Given the description of an element on the screen output the (x, y) to click on. 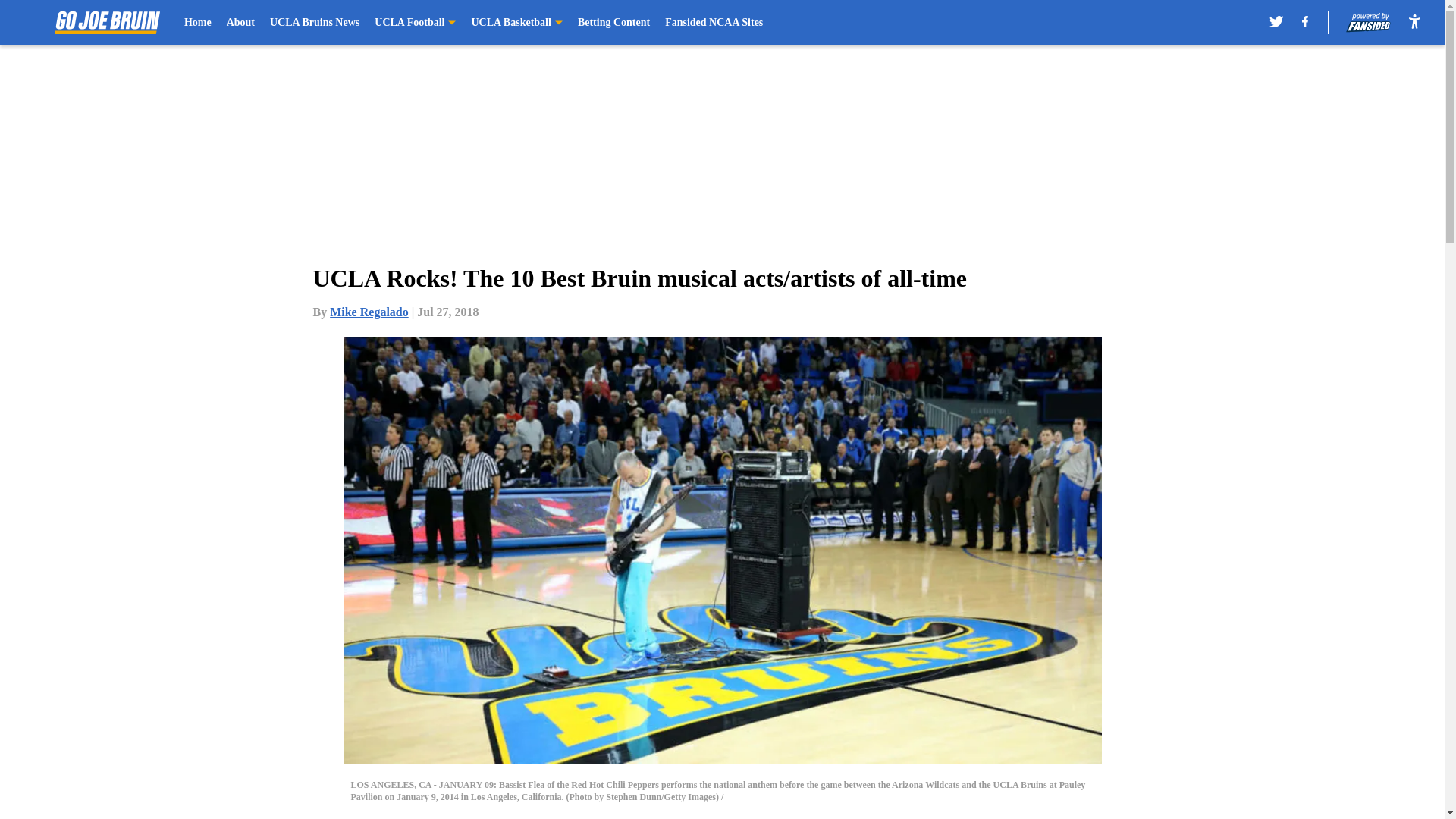
Fansided NCAA Sites (713, 22)
UCLA Bruins News (314, 22)
About (240, 22)
Home (197, 22)
Mike Regalado (369, 311)
Betting Content (613, 22)
